Given the description of an element on the screen output the (x, y) to click on. 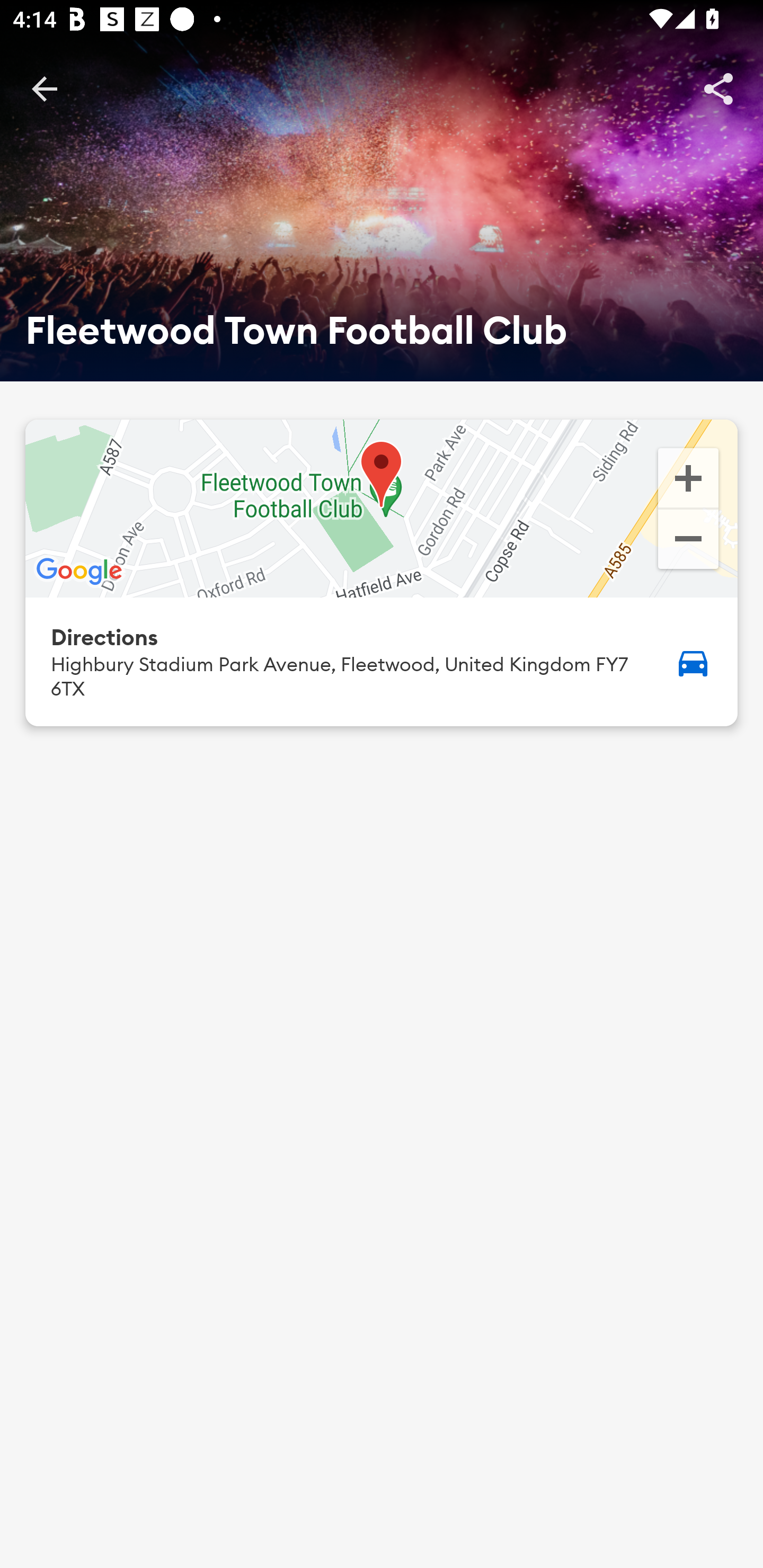
BackButton (44, 88)
Share (718, 88)
Zoom in (687, 476)
Zoom out (687, 540)
